Given the description of an element on the screen output the (x, y) to click on. 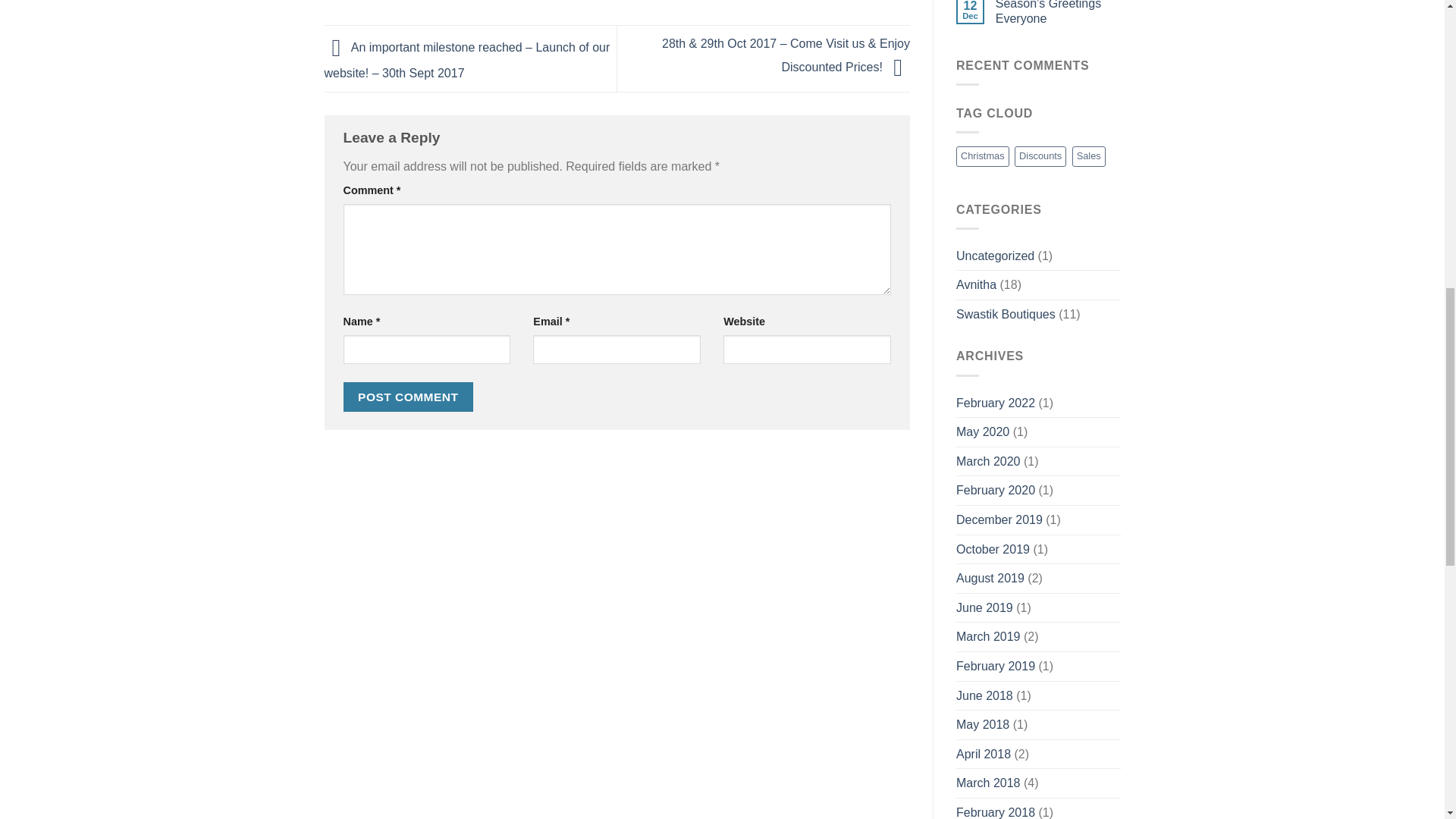
Post Comment (407, 396)
